Given the description of an element on the screen output the (x, y) to click on. 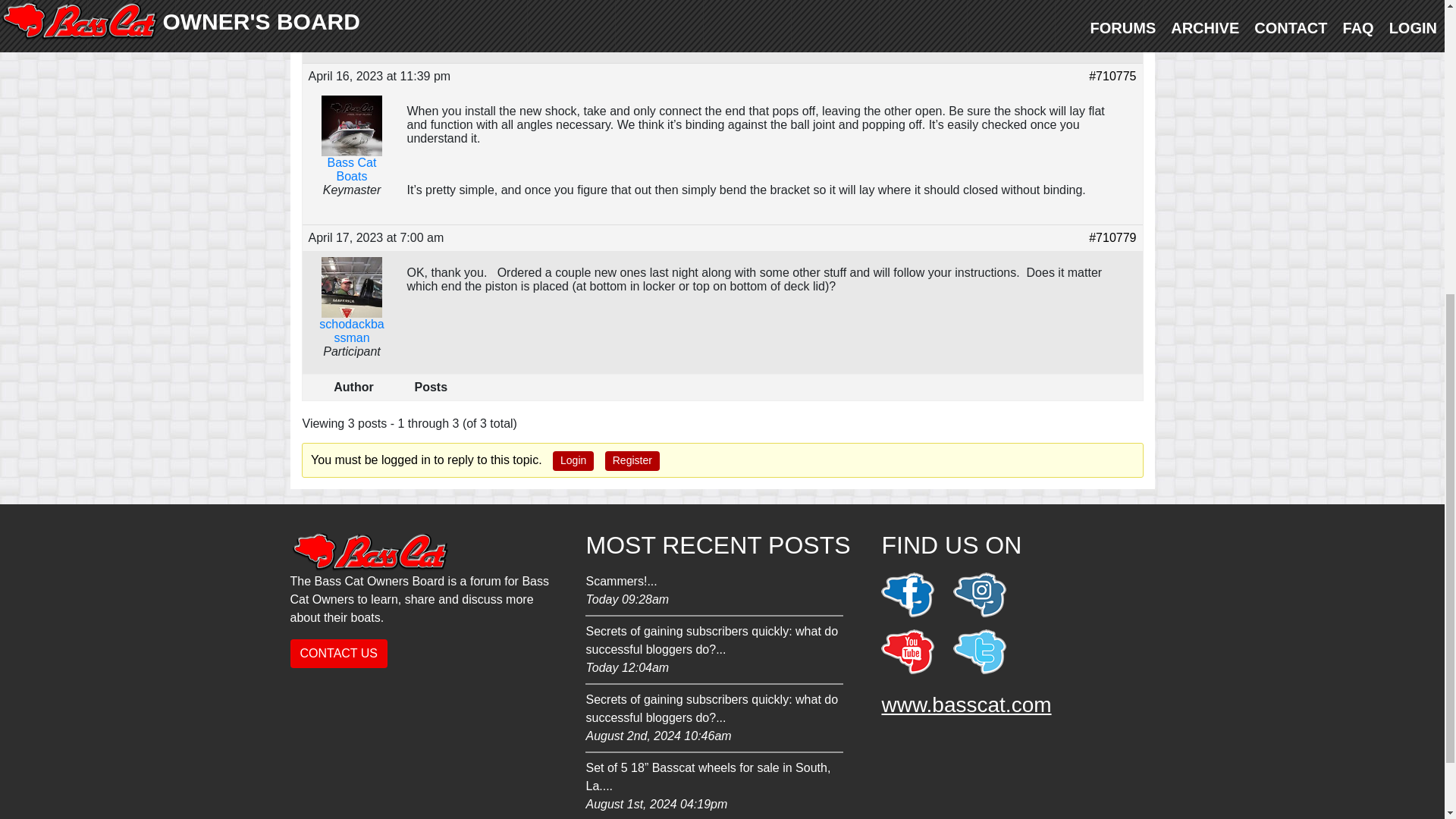
Bass Cat Boats (350, 151)
View Bass Cat Boats's profile (350, 151)
schodackbassman (350, 312)
CONTACT US (338, 653)
Register (714, 591)
Login (632, 460)
www.basscat.com (573, 460)
View schodackbassman's profile (965, 704)
